Given the description of an element on the screen output the (x, y) to click on. 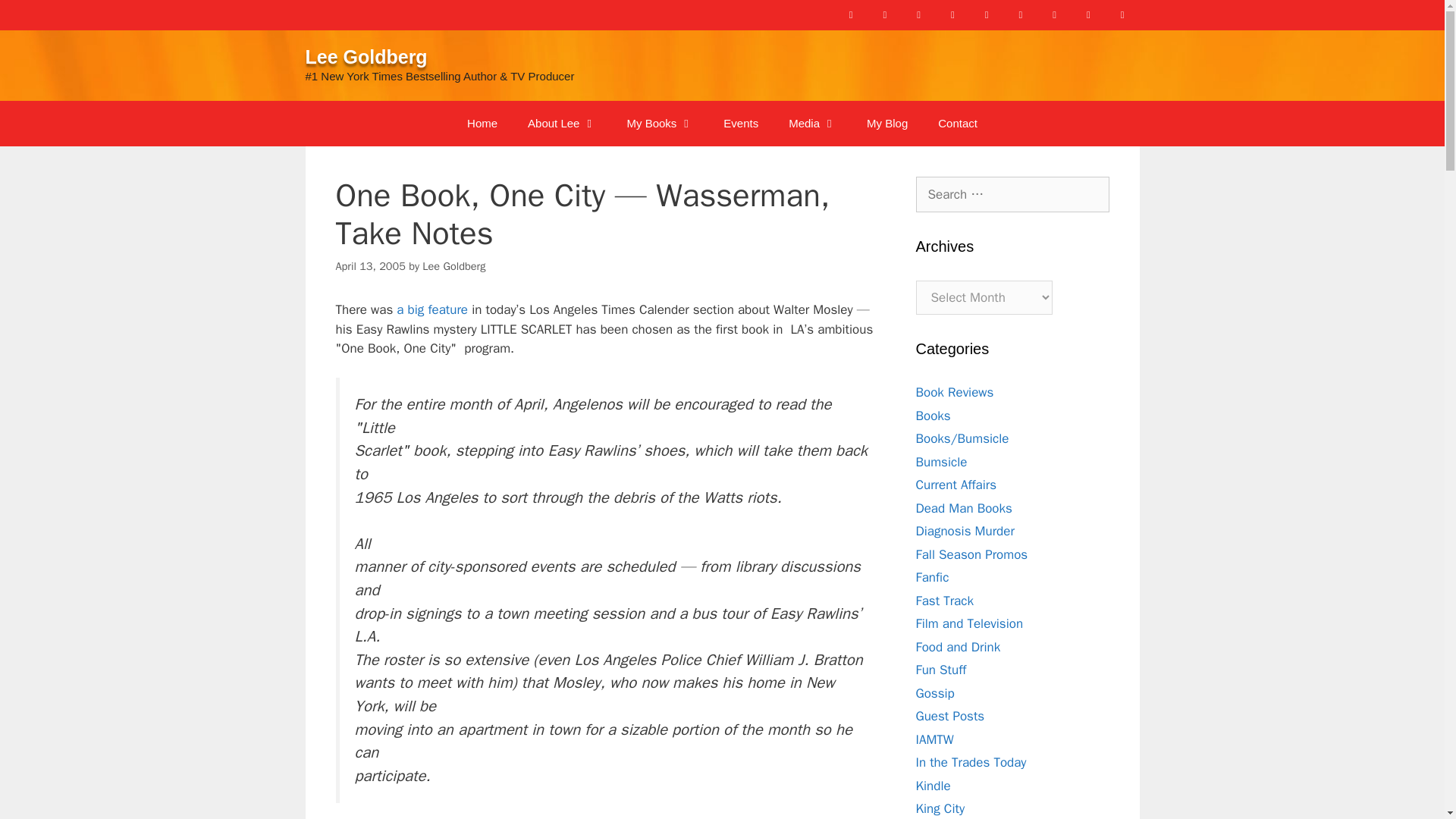
My Books (659, 122)
View all posts by Lee Goldberg (453, 265)
Home (481, 122)
My Blog (887, 122)
Search for: (1012, 194)
Events (740, 122)
About Lee (561, 122)
Lee Goldberg (365, 56)
Media (812, 122)
